Given the description of an element on the screen output the (x, y) to click on. 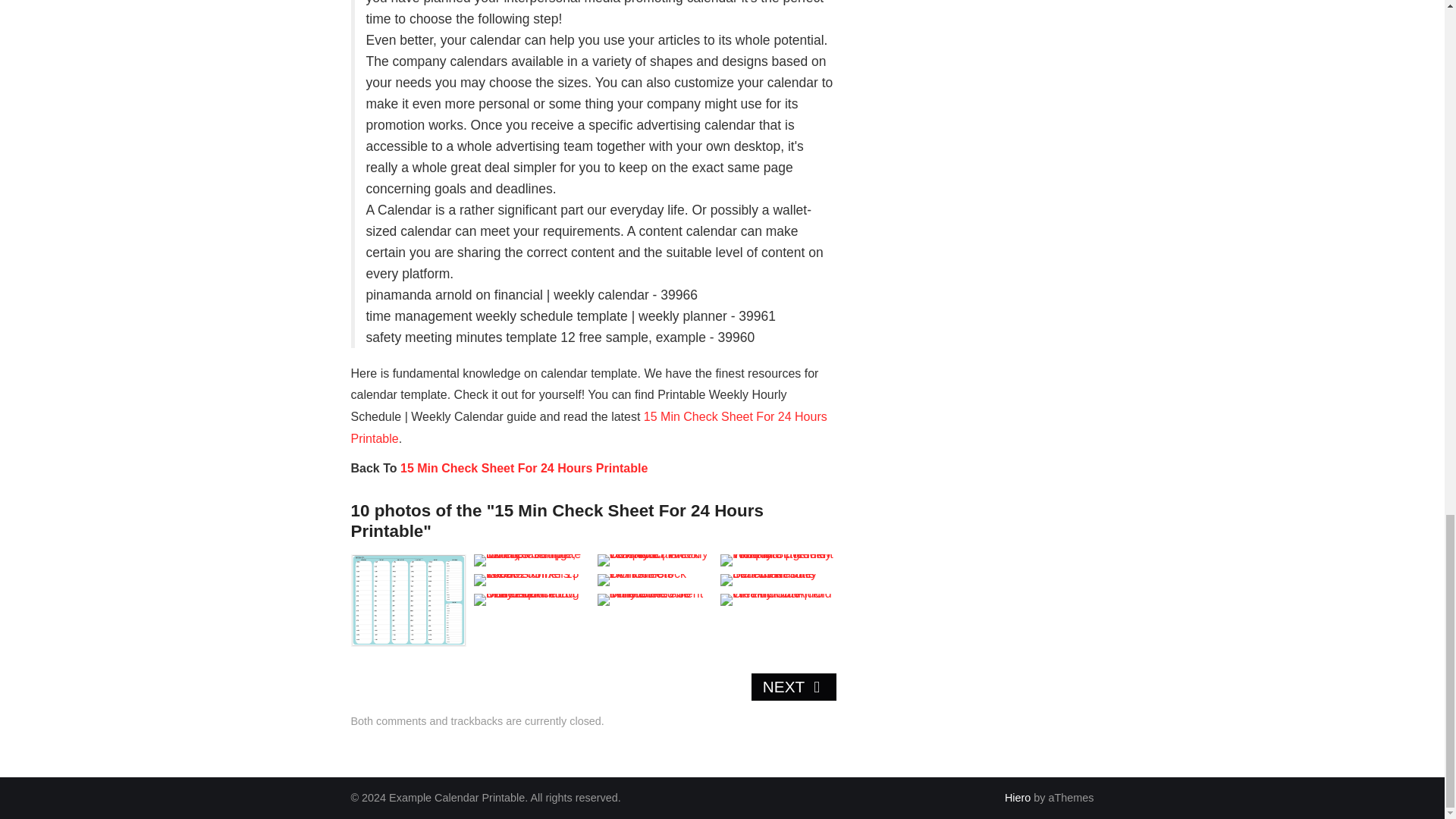
15 Min Check Sheet For 24 Hours Printable (588, 427)
15 Min Check Sheet For 24 Hours Printable (523, 468)
Search Results For "15 Minute Increment Daily Schedule (777, 580)
Safety Meeting Minutes Template 12 Free Sample, Example (531, 560)
Daily Aquarium Maintenance Log Sheet Download Printable (531, 599)
Daily Schedule Printable 15 30 Minute Increment Timetable (654, 599)
15 Min Check Sheet For 24 Hours Printable (523, 468)
NEXT (793, 687)
24 Hour Clock Conversion Worksheets (654, 580)
Hiero (1017, 797)
